Given the description of an element on the screen output the (x, y) to click on. 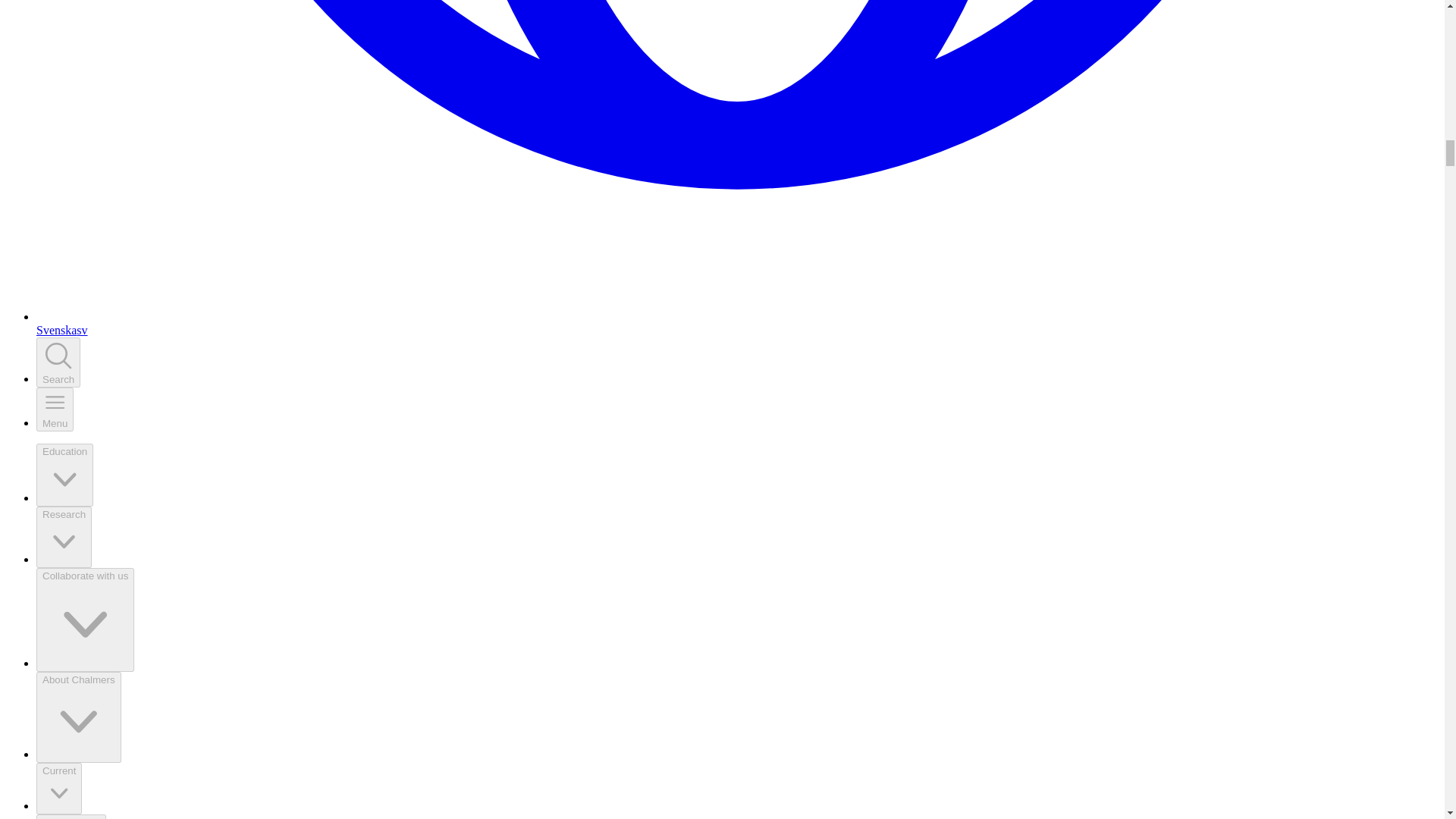
Research (63, 537)
Collaborate with us (84, 619)
About Chalmers (78, 716)
Departments (71, 816)
Education (64, 474)
